Given the description of an element on the screen output the (x, y) to click on. 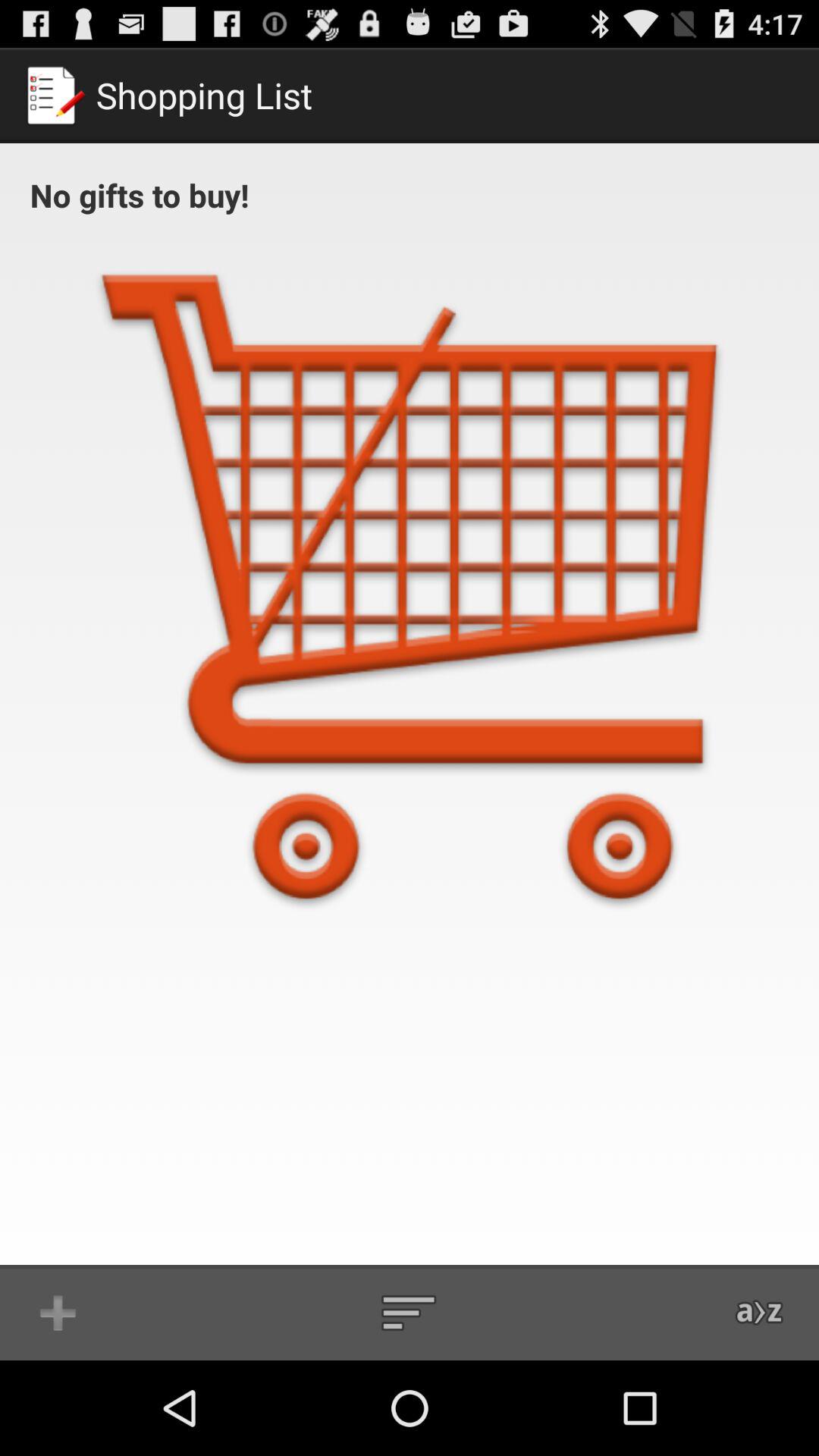
launch icon at the bottom (408, 1312)
